Given the description of an element on the screen output the (x, y) to click on. 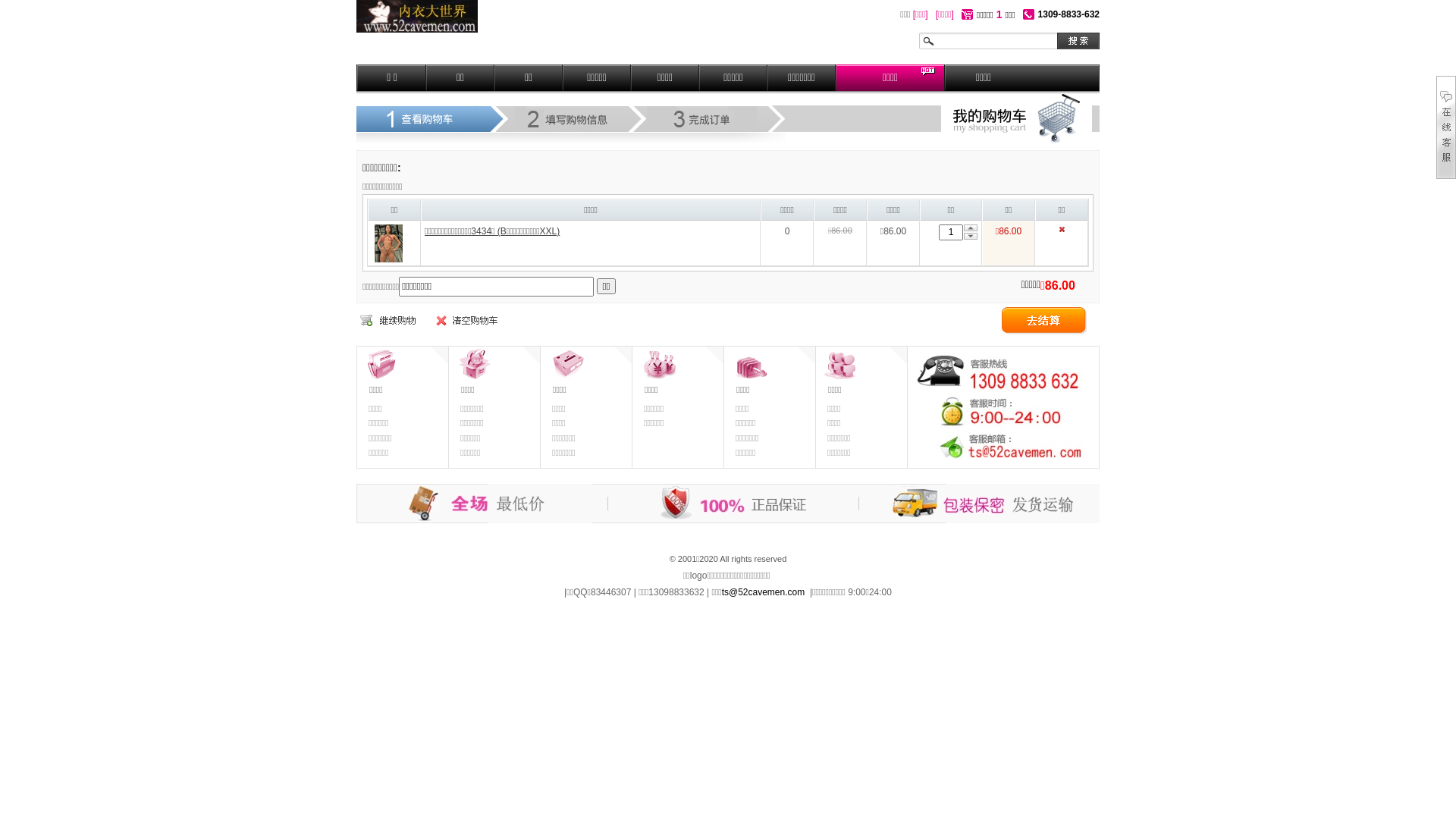
ts@52cavemen.com Element type: text (763, 591)
